Given the description of an element on the screen output the (x, y) to click on. 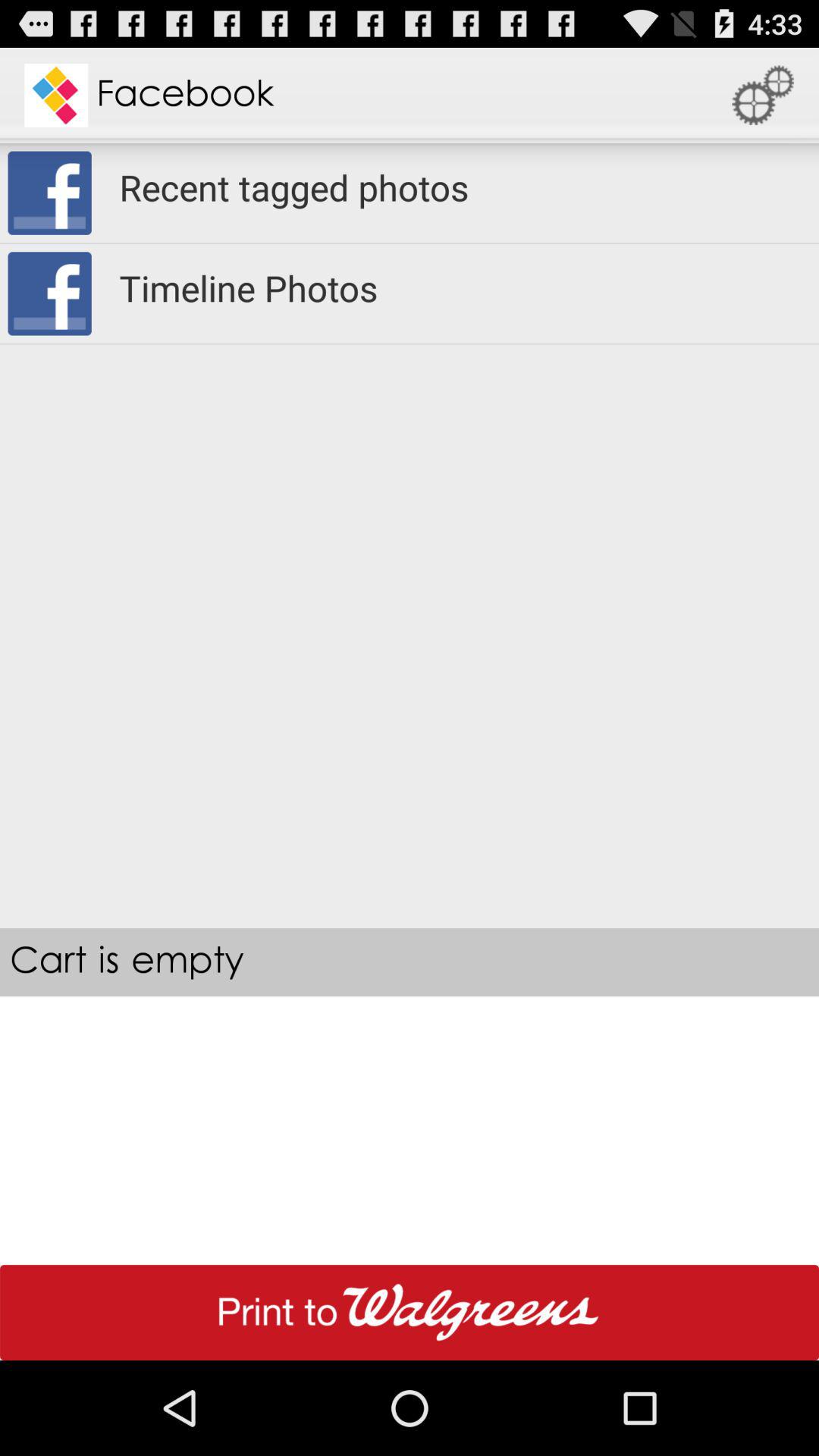
turn off the icon to the right of facebook app (763, 95)
